Given the description of an element on the screen output the (x, y) to click on. 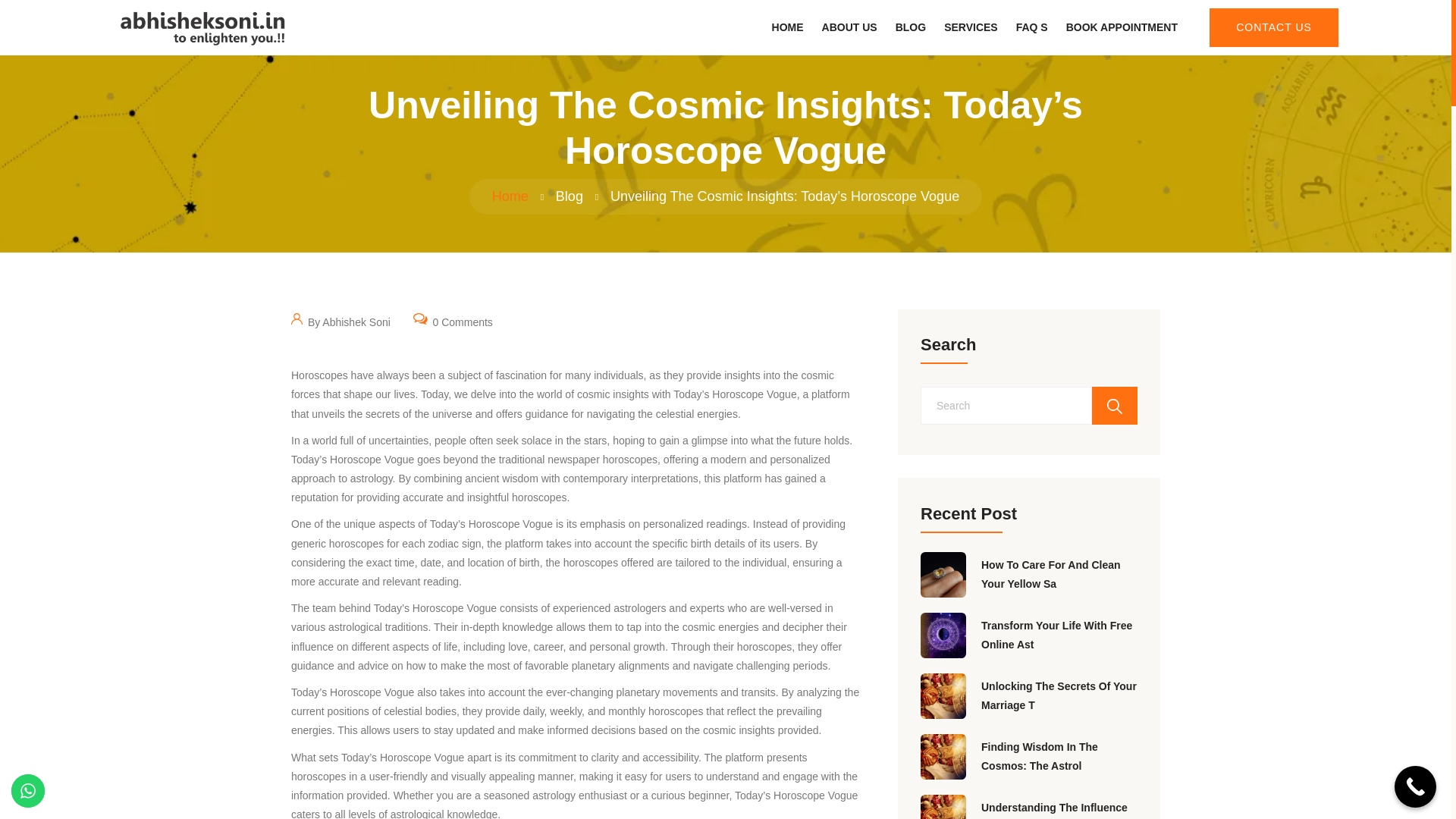
0 Comments (453, 320)
BOOK APPOINTMENT (1121, 27)
Home (510, 196)
ABOUT US (849, 27)
By Abhishek Soni (340, 320)
CONTACT US (1273, 27)
SERVICES (970, 27)
